Given the description of an element on the screen output the (x, y) to click on. 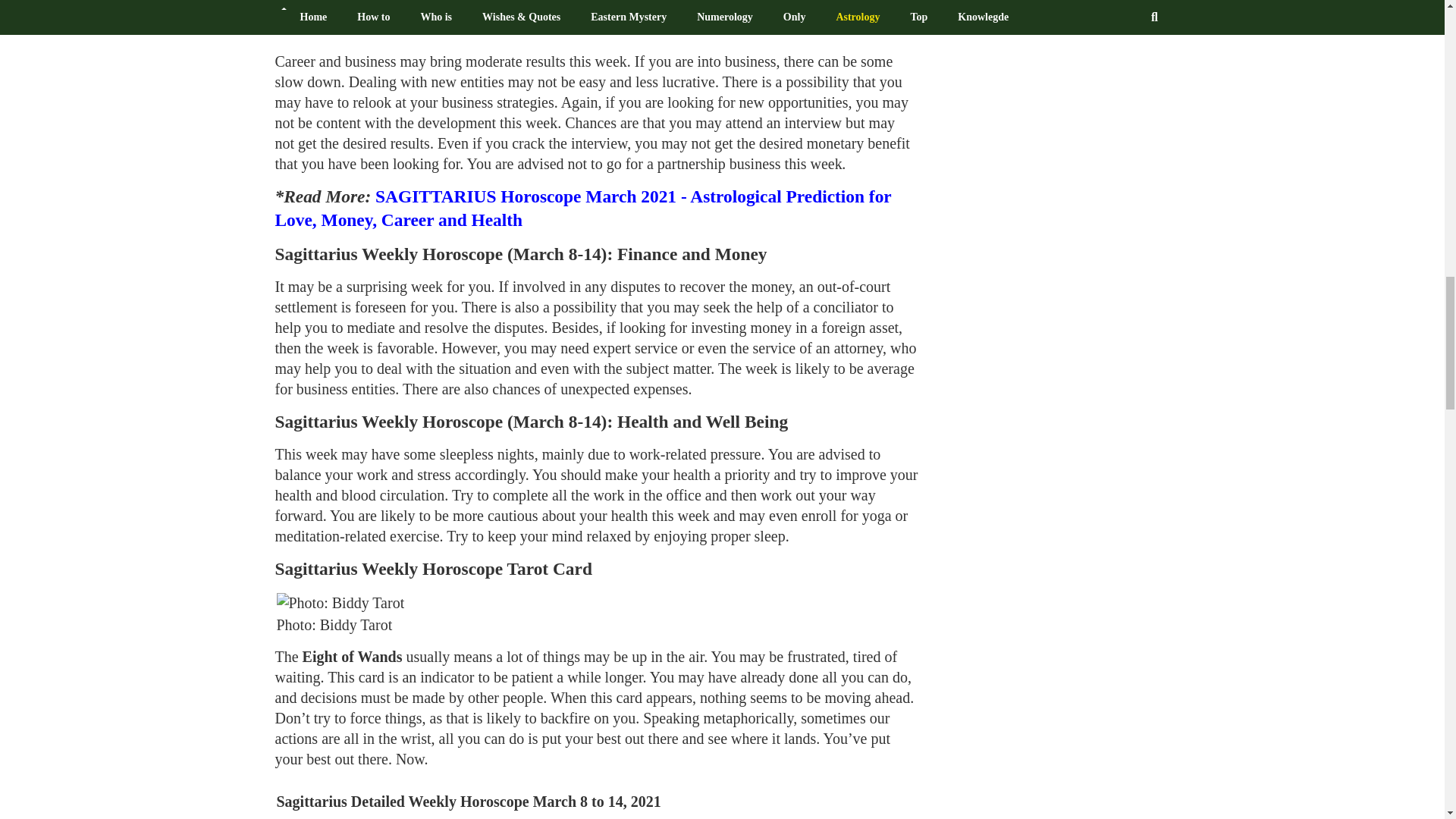
Photo: Biddy Tarot (340, 602)
Photo: Farmers' Almanac (358, 9)
